Given the description of an element on the screen output the (x, y) to click on. 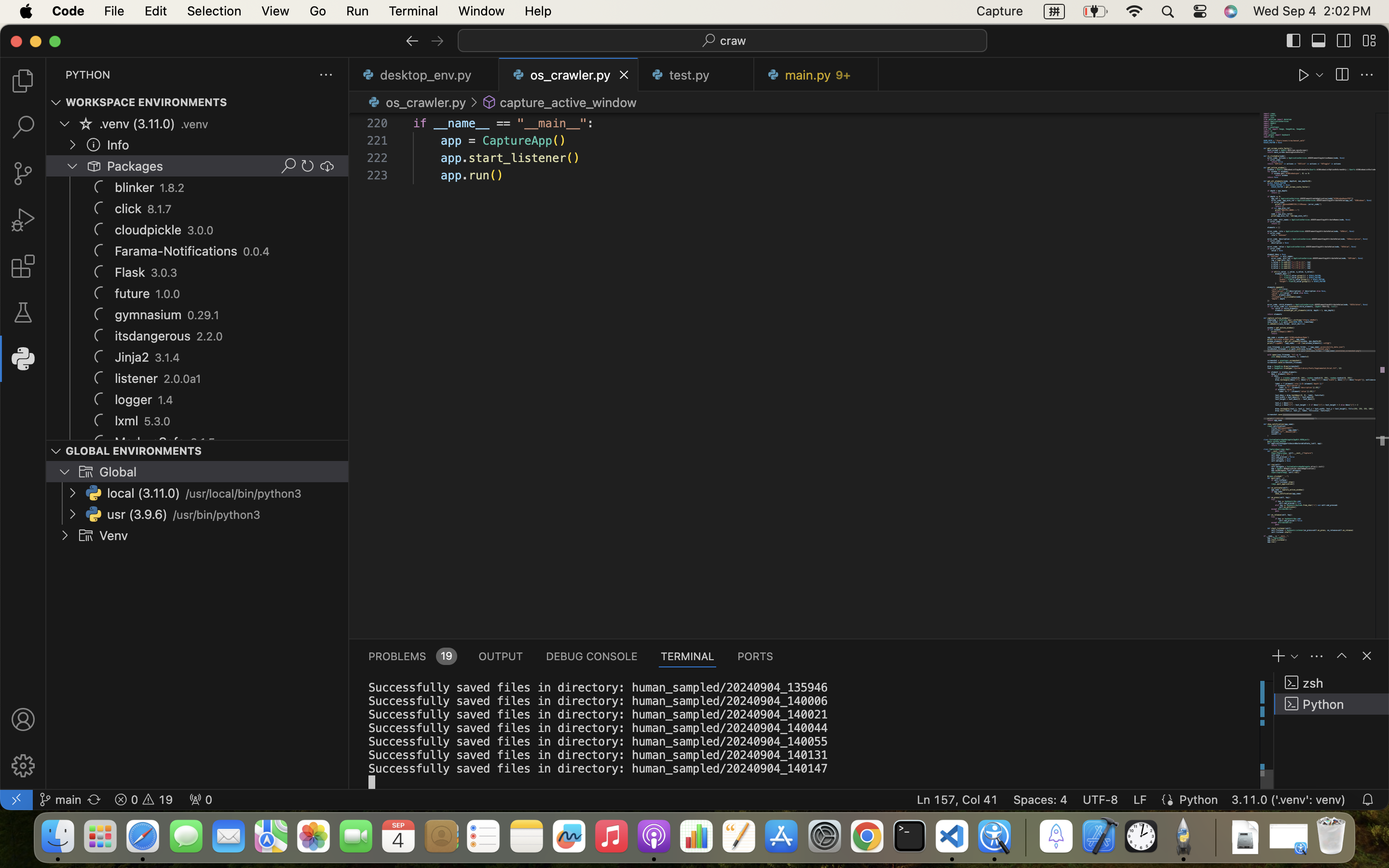
1.4 Element type: AXStaticText (165, 399)
5.3.0 Element type: AXStaticText (156, 421)
 Element type: AXButton (437, 40)
1 Element type: AXRadioButton (23, 358)
3.1.4 Element type: AXStaticText (167, 357)
